Given the description of an element on the screen output the (x, y) to click on. 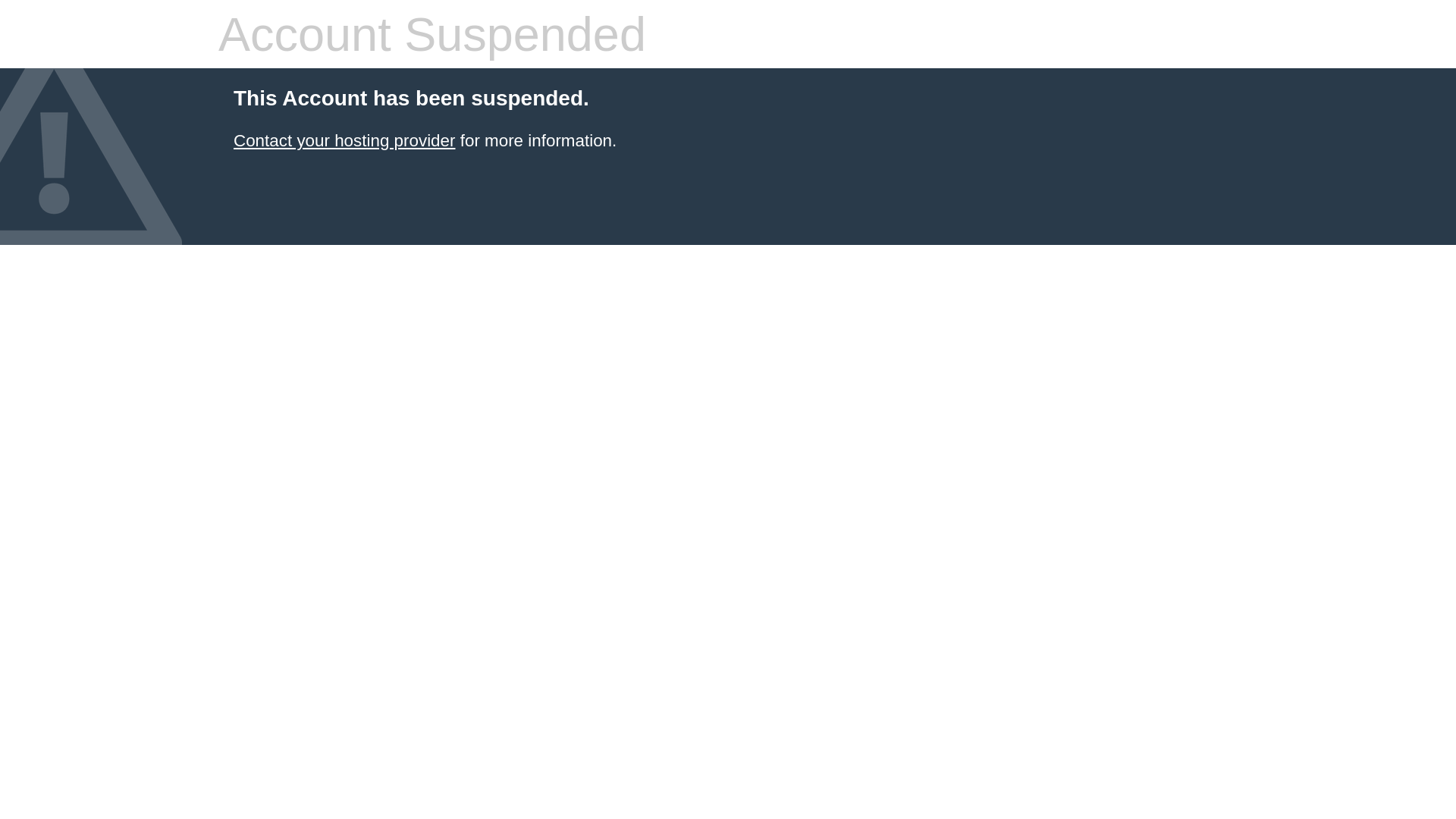
Contact your hosting provider Element type: text (344, 140)
